Given the description of an element on the screen output the (x, y) to click on. 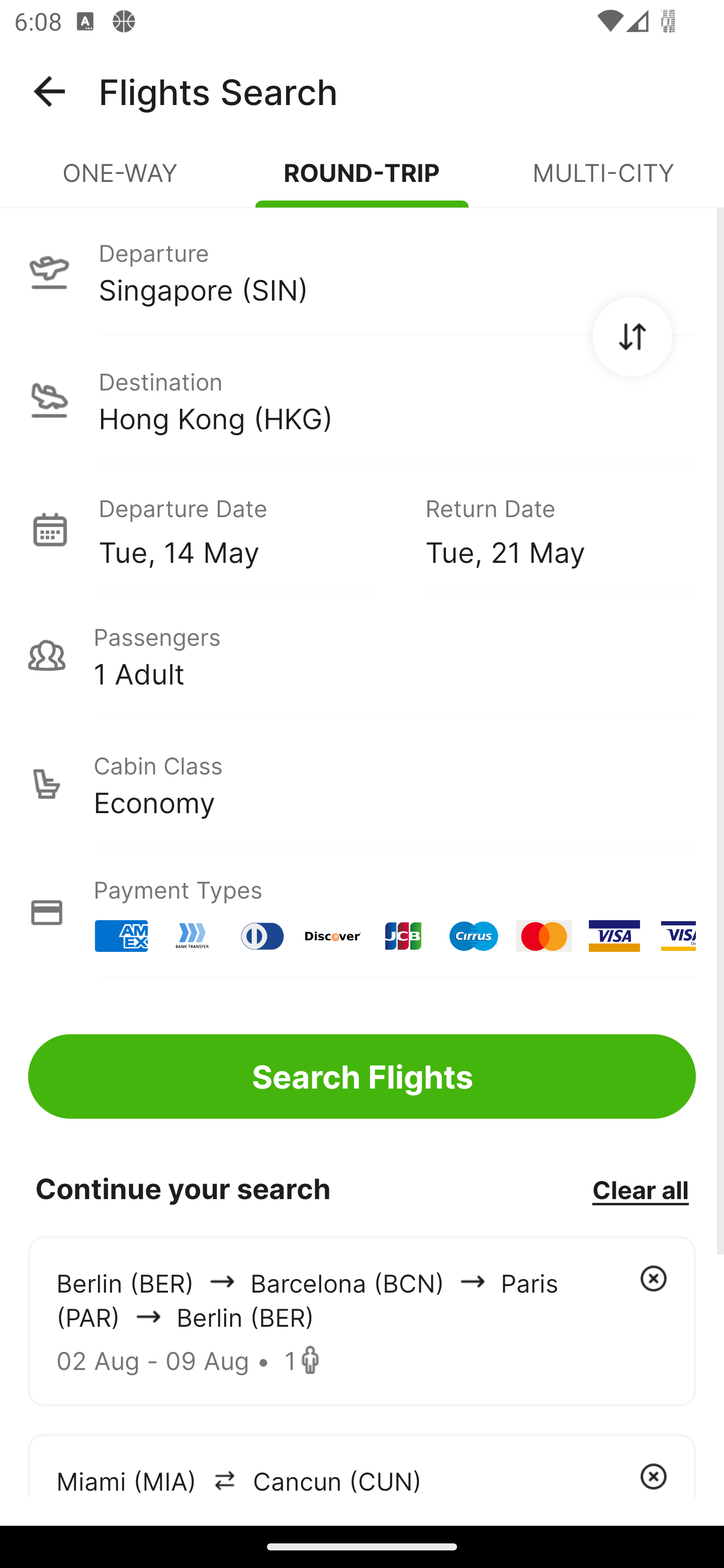
ONE-WAY (120, 180)
ROUND-TRIP (361, 180)
MULTI-CITY (603, 180)
Departure Singapore (SIN) (362, 270)
Destination Hong Kong (HKG) (362, 400)
Departure Date Tue, 14 May (247, 528)
Return Date Tue, 21 May (546, 528)
Passengers 1 Adult (362, 655)
Cabin Class Economy (362, 783)
Payment Types (362, 912)
Search Flights (361, 1075)
Clear all (640, 1189)
Miami (MIA)  arrowIcon  Cancun (CUN) (361, 1465)
